Given the description of an element on the screen output the (x, y) to click on. 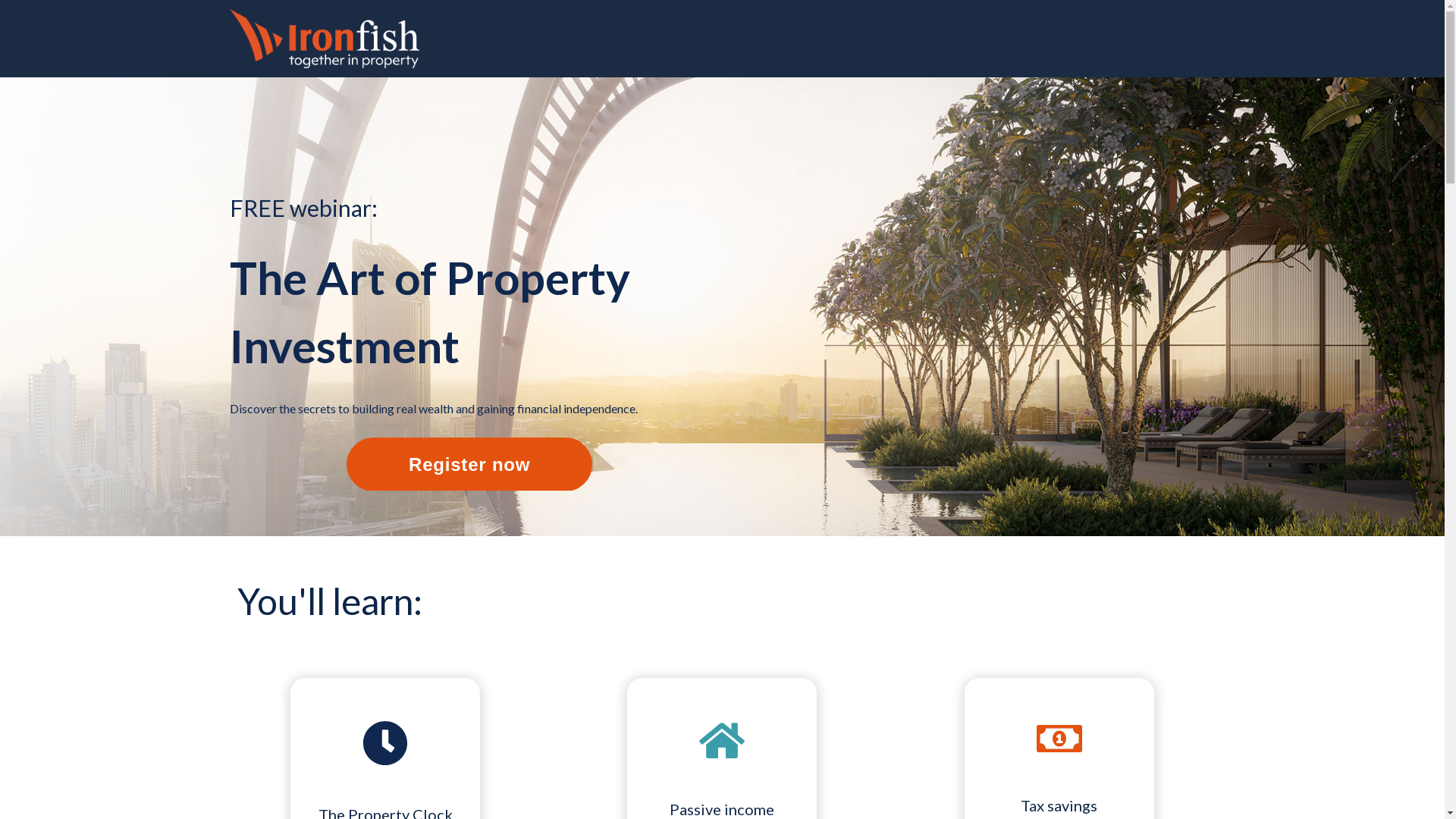
Ironfish_English_logo_horizontal_tagline_Colour_On dark Element type: hover (323, 38)
Register now Element type: text (469, 464)
